Given the description of an element on the screen output the (x, y) to click on. 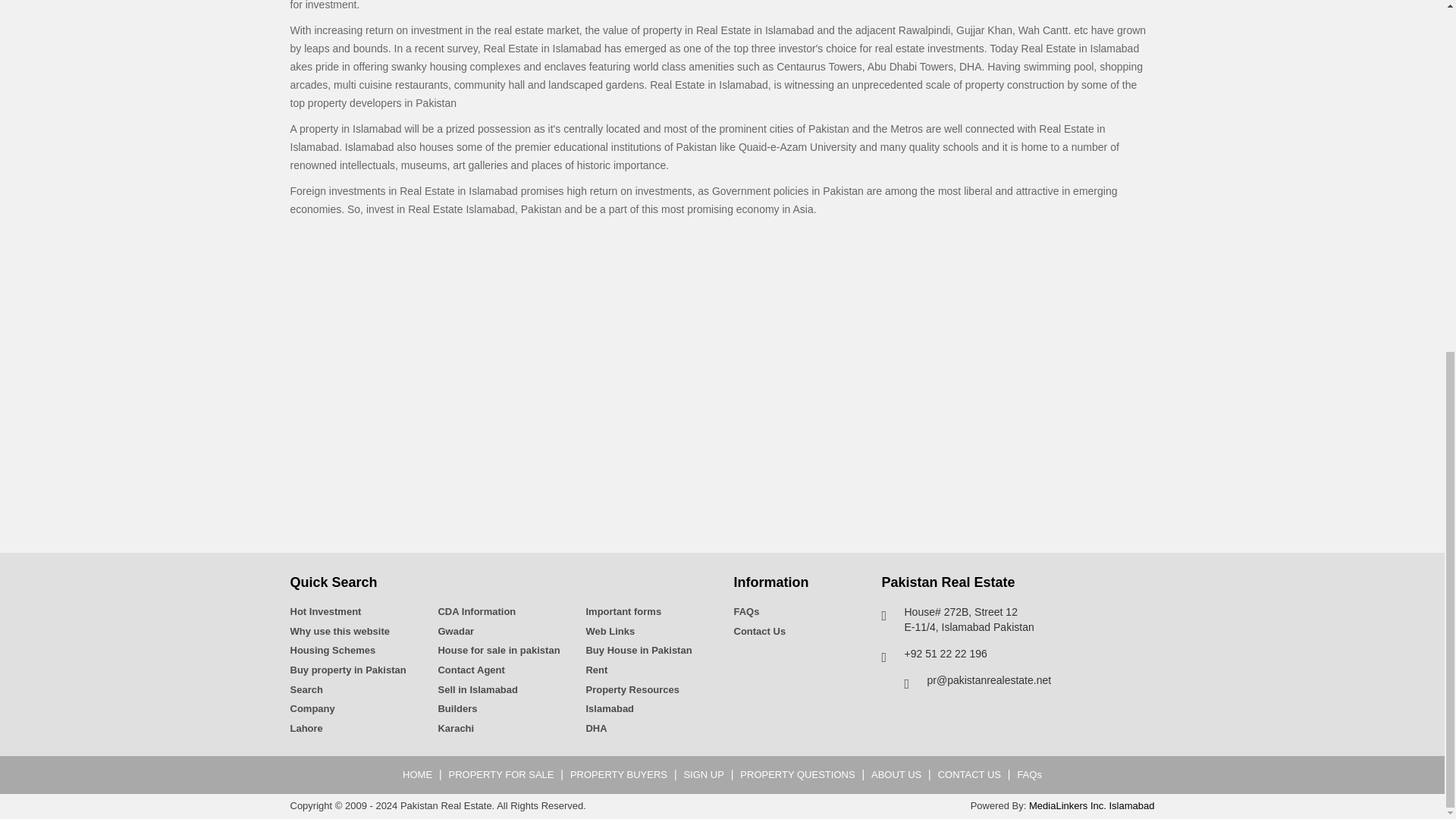
Islamabad (647, 708)
Gwadar (500, 631)
Why use this website (351, 631)
Housing Schemes (351, 650)
Property Resources (647, 690)
Karachi (500, 728)
CDA Information (500, 612)
Hot Investment (351, 612)
Company (351, 708)
Contact Agent (500, 670)
Sell in Islamabad (500, 690)
Search (351, 690)
Buy House in Pakistan (647, 650)
FAQs (796, 612)
Lahore (351, 728)
